Given the description of an element on the screen output the (x, y) to click on. 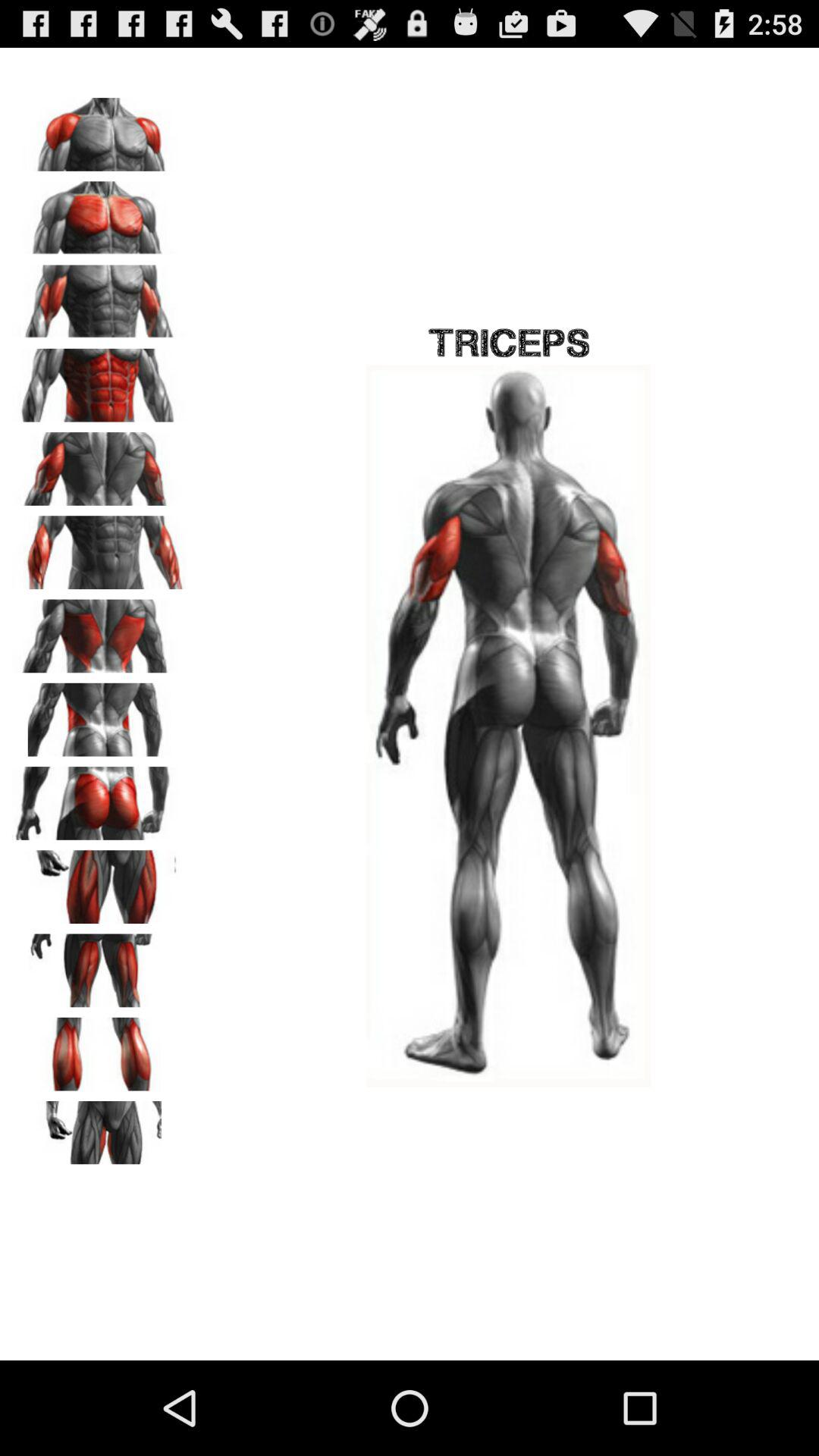
display muscle group (99, 1048)
